Given the description of an element on the screen output the (x, y) to click on. 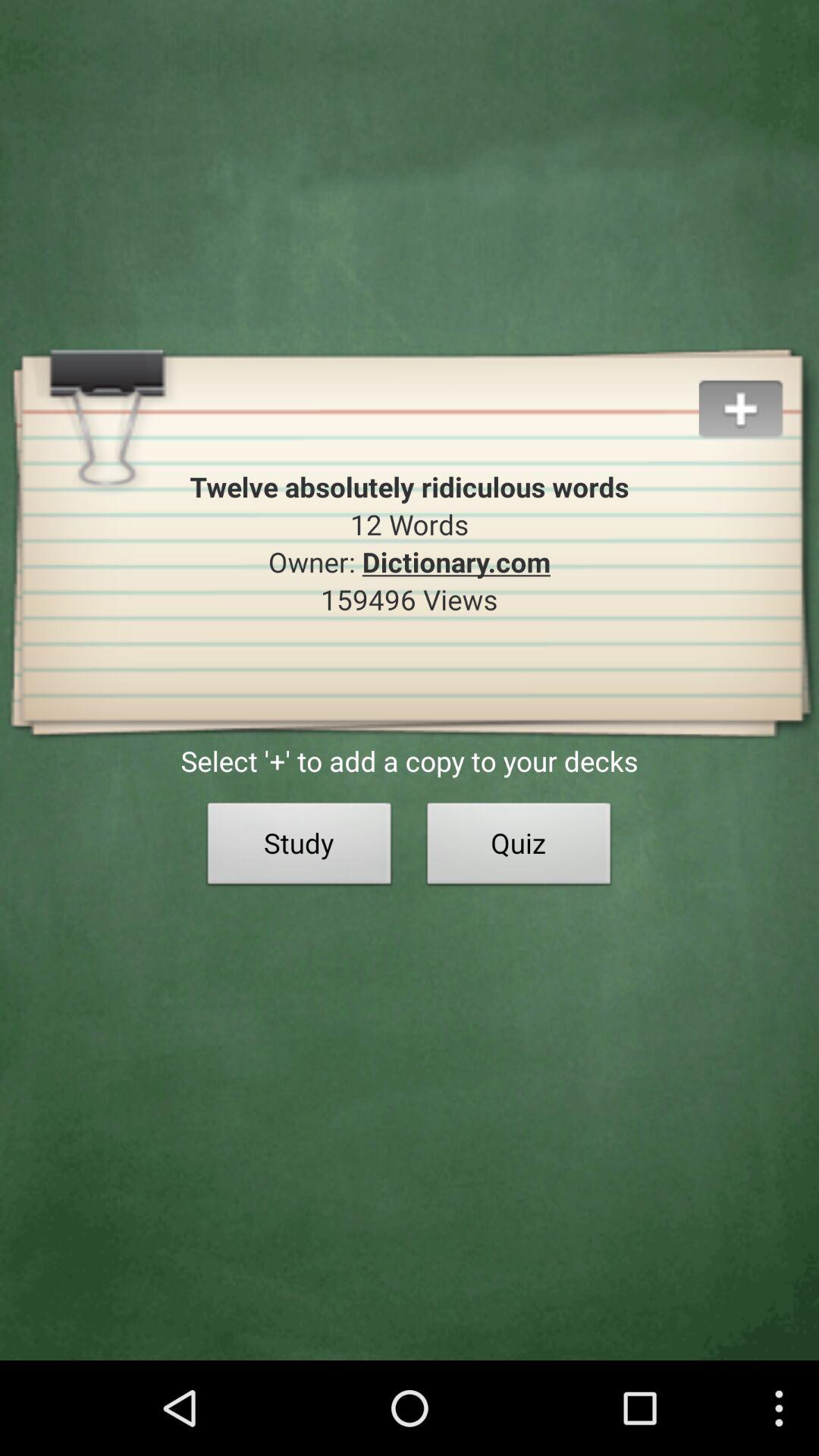
add card (758, 391)
